Given the description of an element on the screen output the (x, y) to click on. 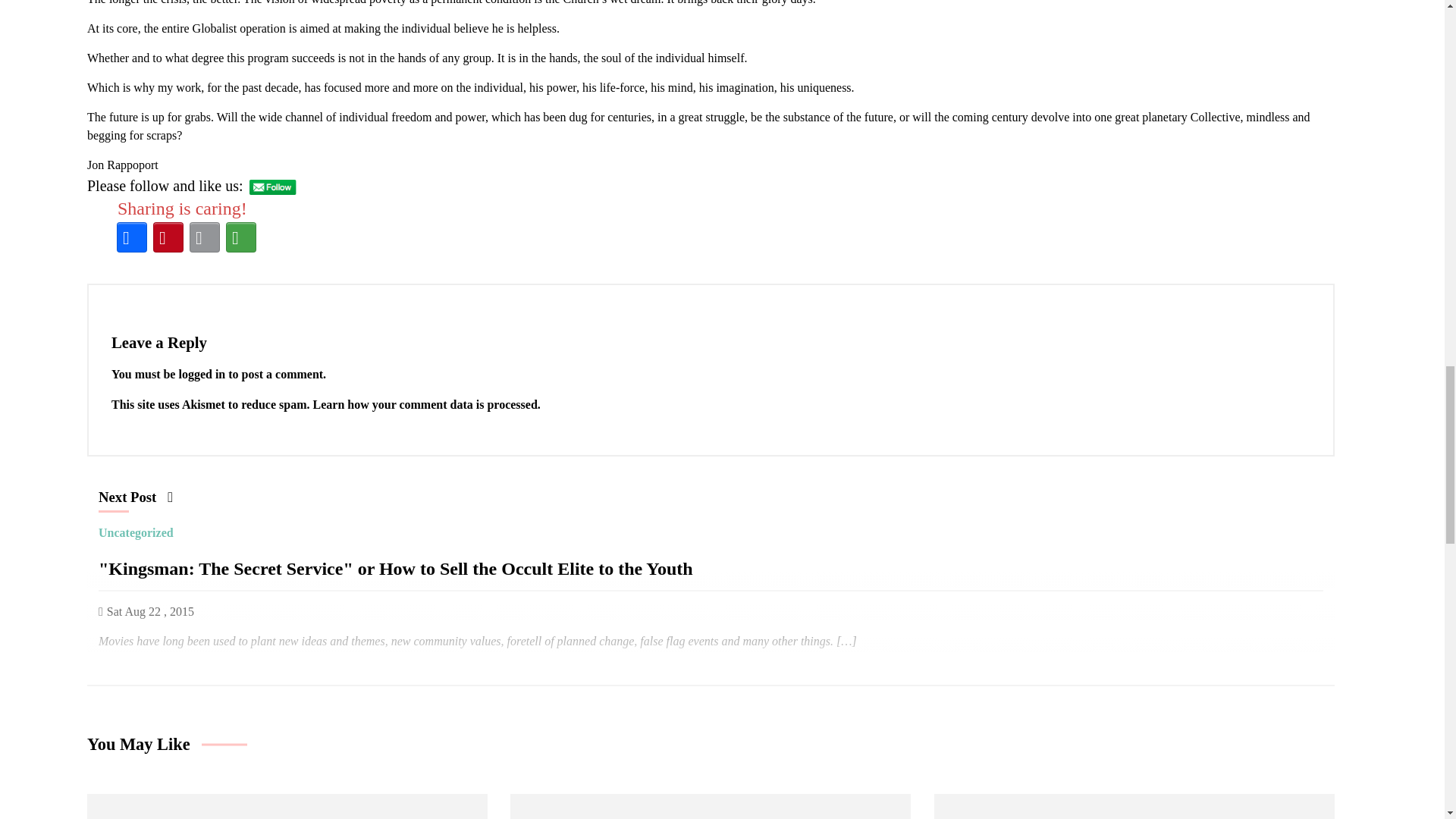
Email This (204, 237)
Facebook (131, 237)
Pinterest (167, 237)
More Options (240, 237)
